Given the description of an element on the screen output the (x, y) to click on. 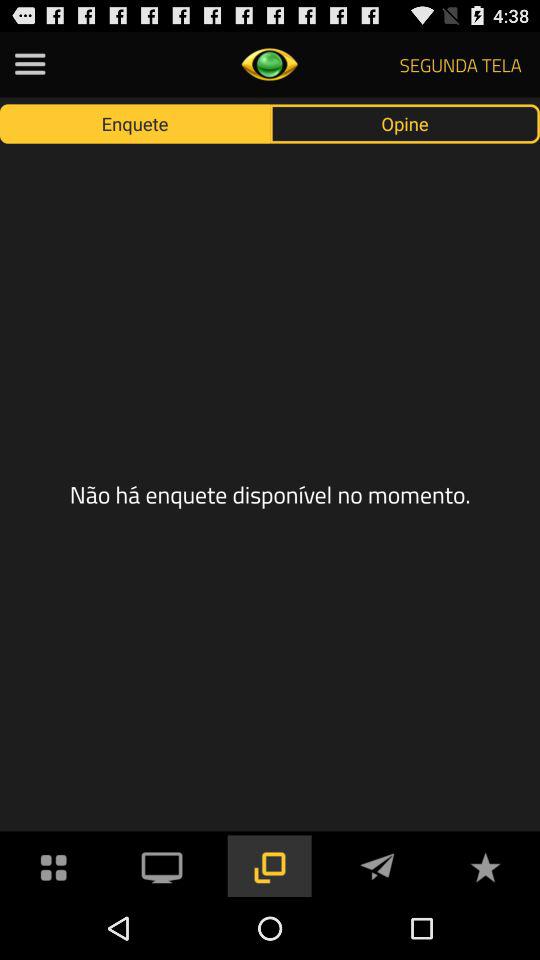
open menu (29, 64)
